Given the description of an element on the screen output the (x, y) to click on. 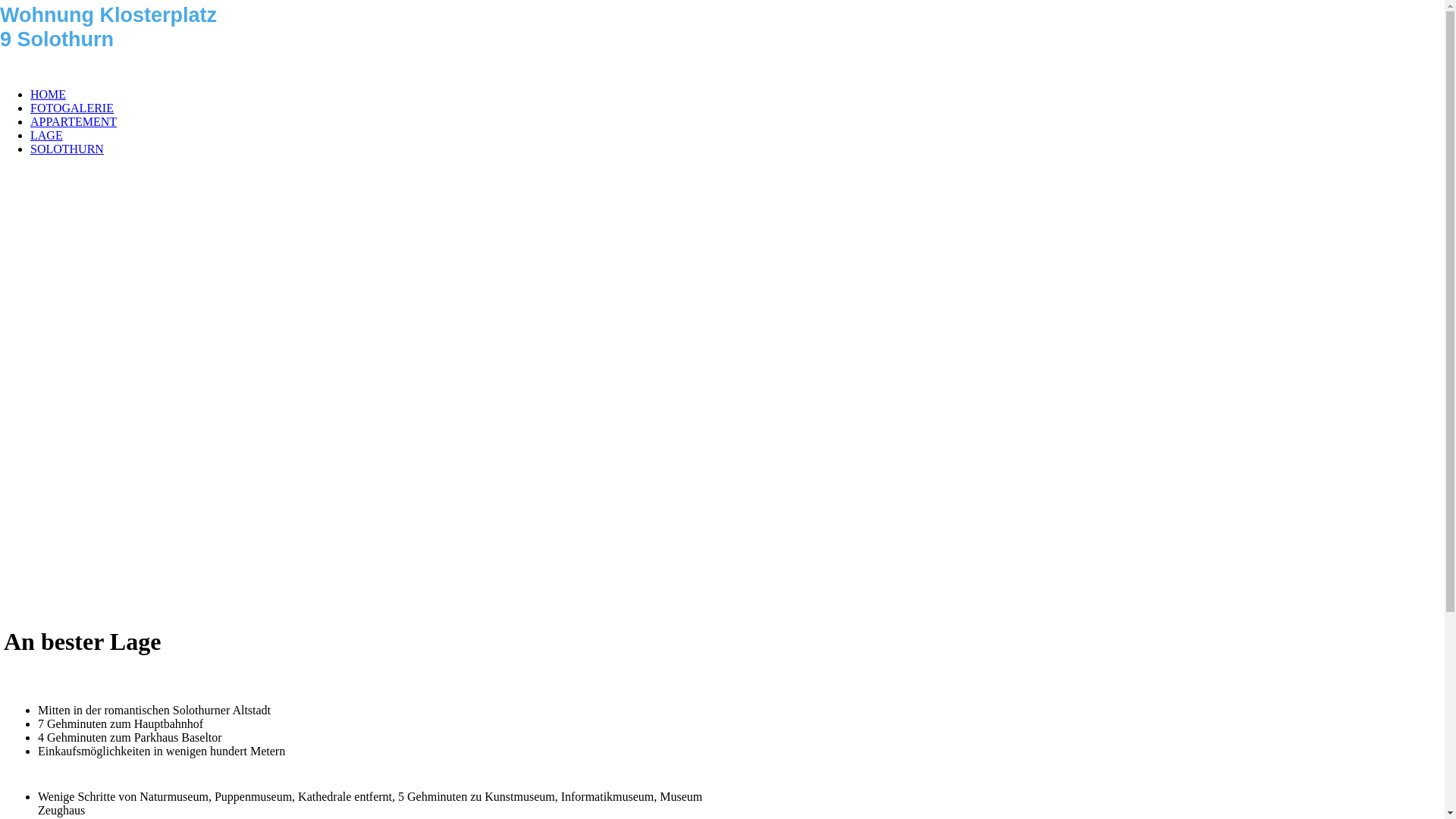
APPARTEMENT Element type: text (73, 121)
HOME Element type: text (47, 93)
SOLOTHURN Element type: text (66, 148)
Wohnung Klosterplatz 9 Solothurn Element type: text (0, 6)
FOTOGALERIE Element type: text (71, 107)
LAGE Element type: text (46, 134)
